Given the description of an element on the screen output the (x, y) to click on. 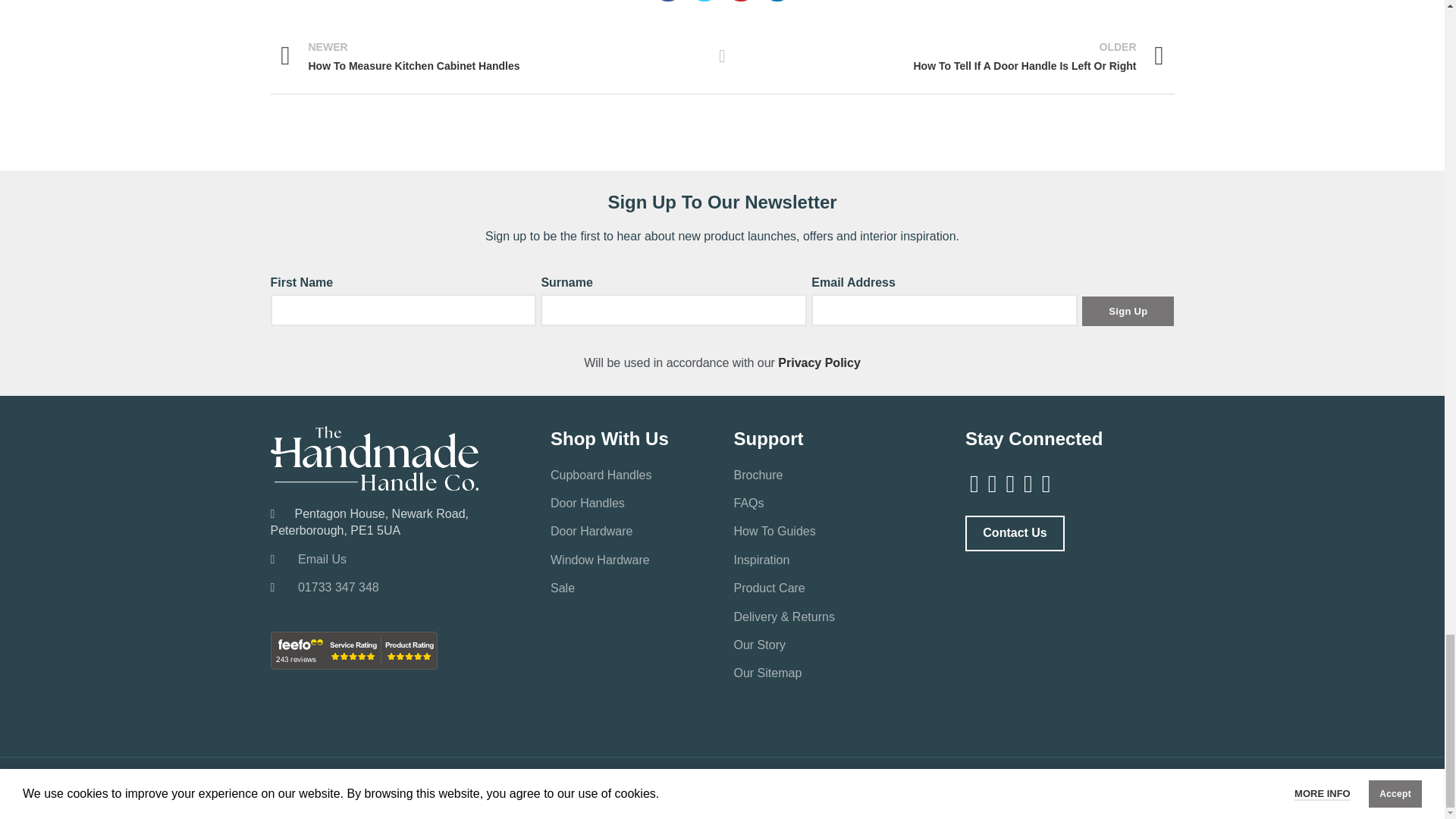
Sign up (1127, 310)
Our customer Feefo rating (352, 650)
